Given the description of an element on the screen output the (x, y) to click on. 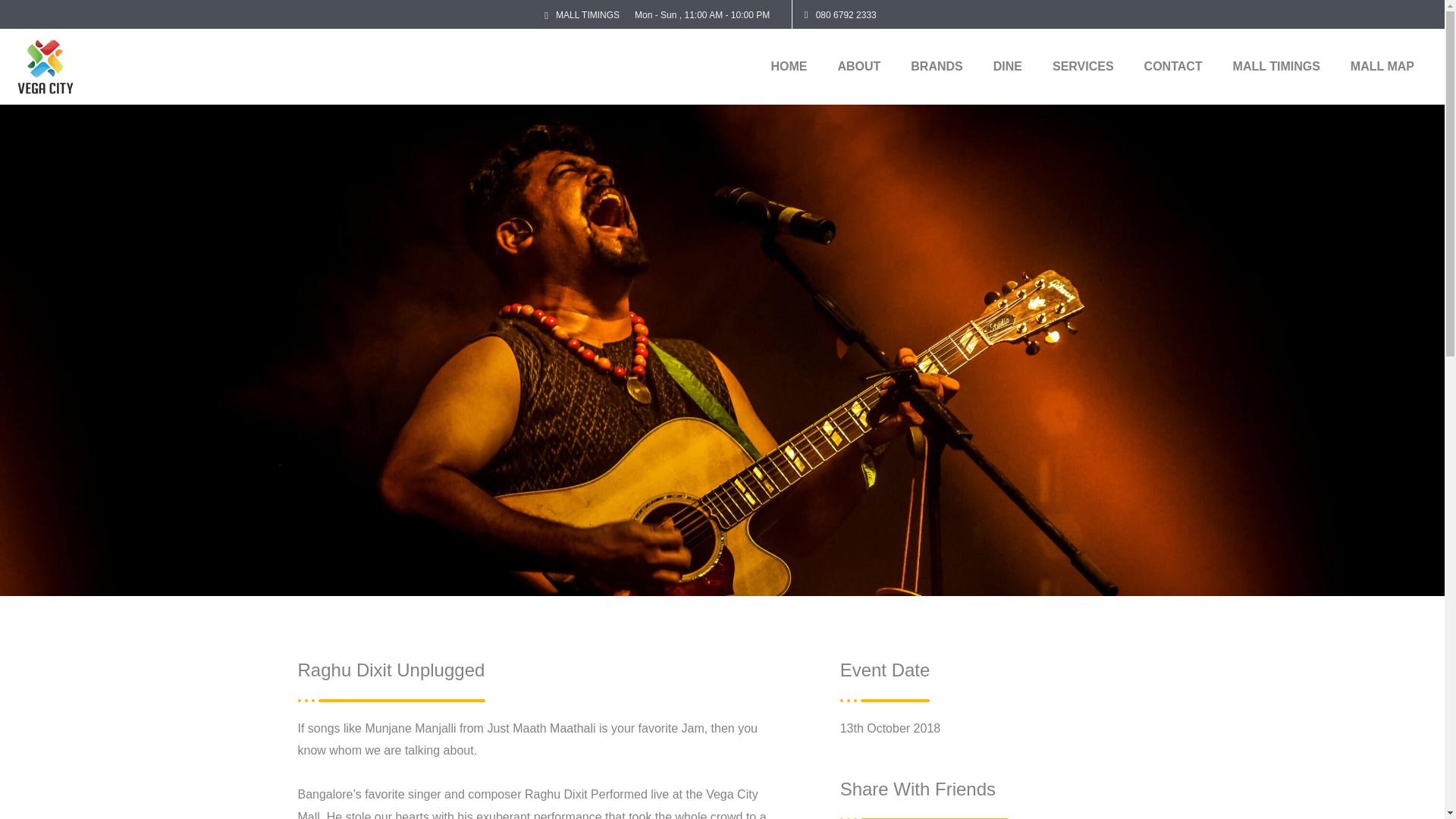
BRANDS (935, 66)
ABOUT (858, 66)
HOME (788, 66)
MALL MAP (1382, 66)
CONTACT (1173, 66)
DINE (1007, 66)
MALL TIMINGS (1276, 66)
SERVICES (1082, 66)
